Given the description of an element on the screen output the (x, y) to click on. 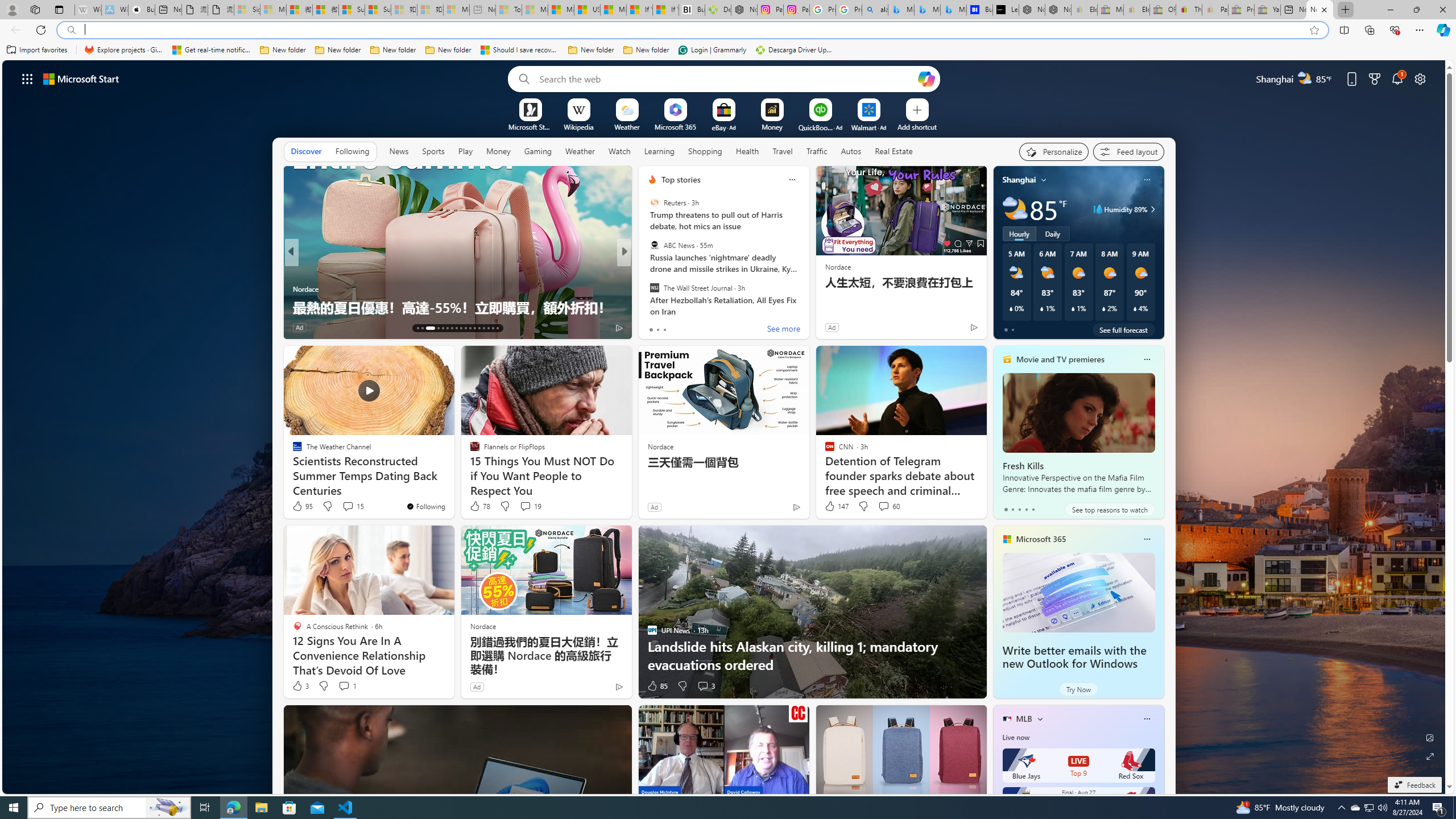
See top reasons to watch (1109, 509)
Money (498, 151)
How to back up and wipe your Windows PC (807, 307)
9 Surprising Items You Need to Replace in Your Bathroom (807, 298)
AutomationID: tab-21 (460, 328)
Import favorites (36, 49)
MLB (1024, 718)
Top Stories - MSN - Sleeping (508, 9)
Play (465, 151)
Write better emails with the new Outlook for Windows (1077, 592)
Search icon (70, 29)
